Given the description of an element on the screen output the (x, y) to click on. 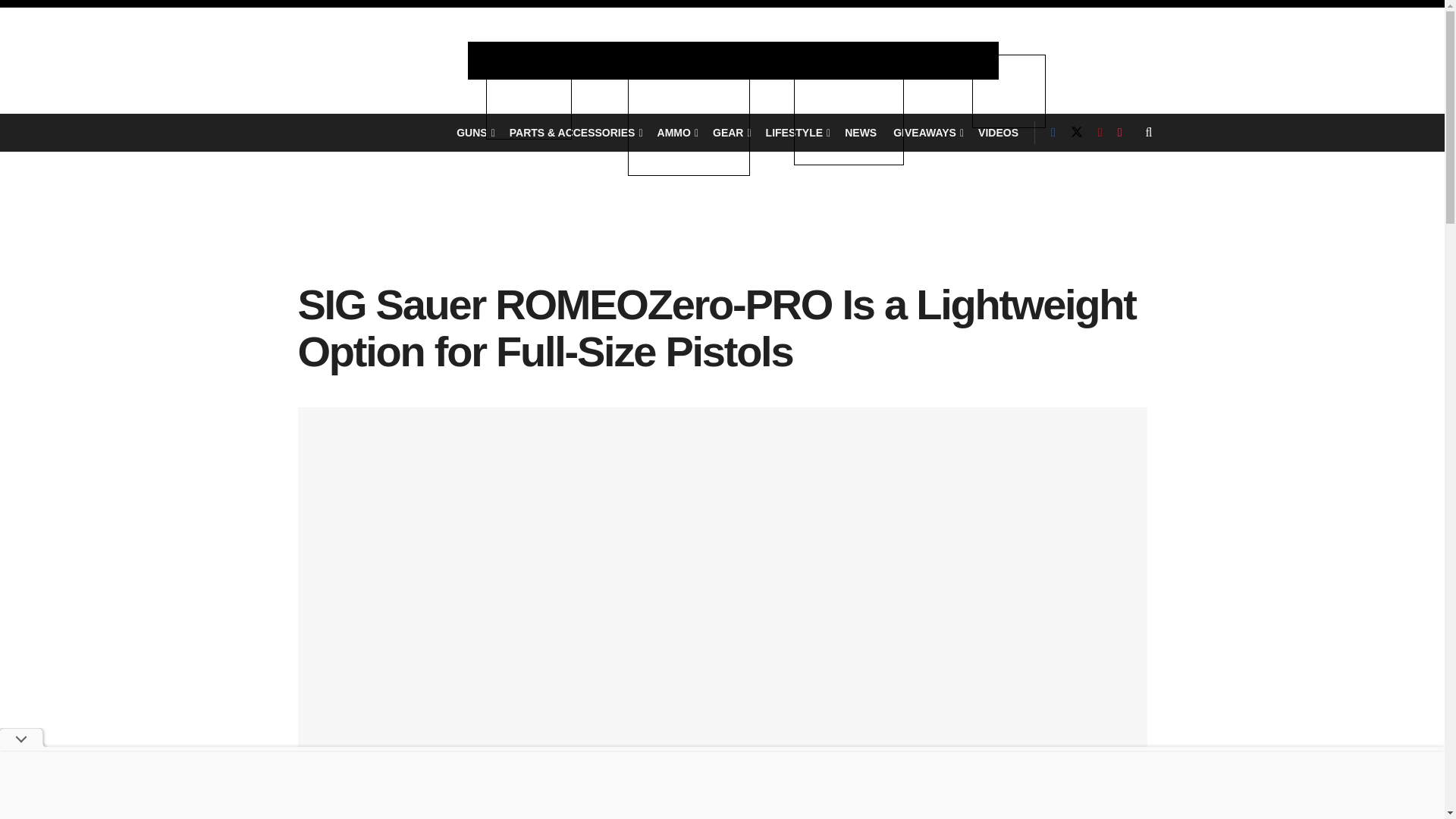
3rd party ad content (722, 785)
3rd party ad content (722, 232)
AMMO (676, 132)
GUNS (475, 132)
GEAR (731, 132)
